Given the description of an element on the screen output the (x, y) to click on. 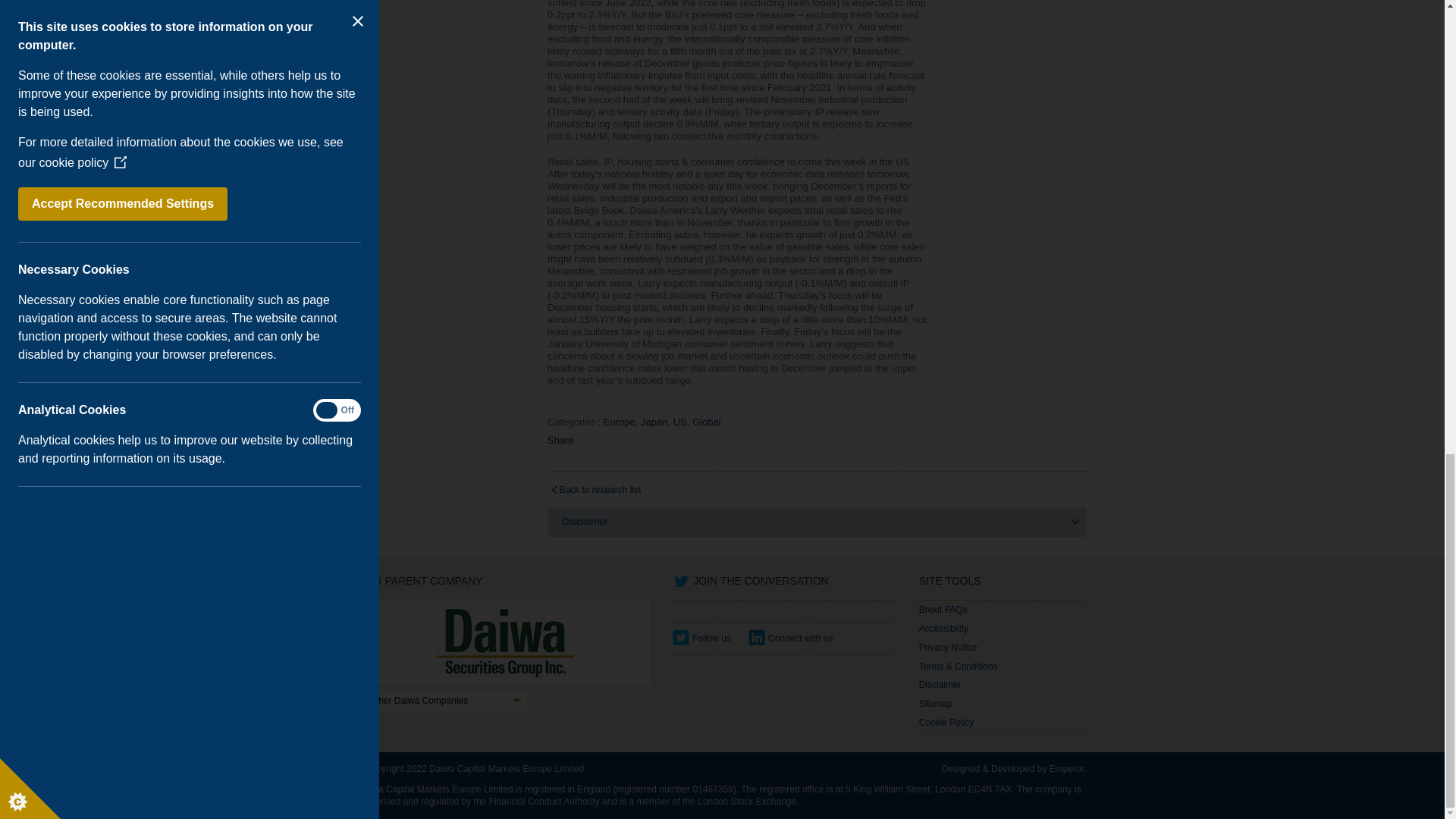
Japan (656, 422)
Europe (622, 422)
US (682, 422)
Global (708, 422)
